Given the description of an element on the screen output the (x, y) to click on. 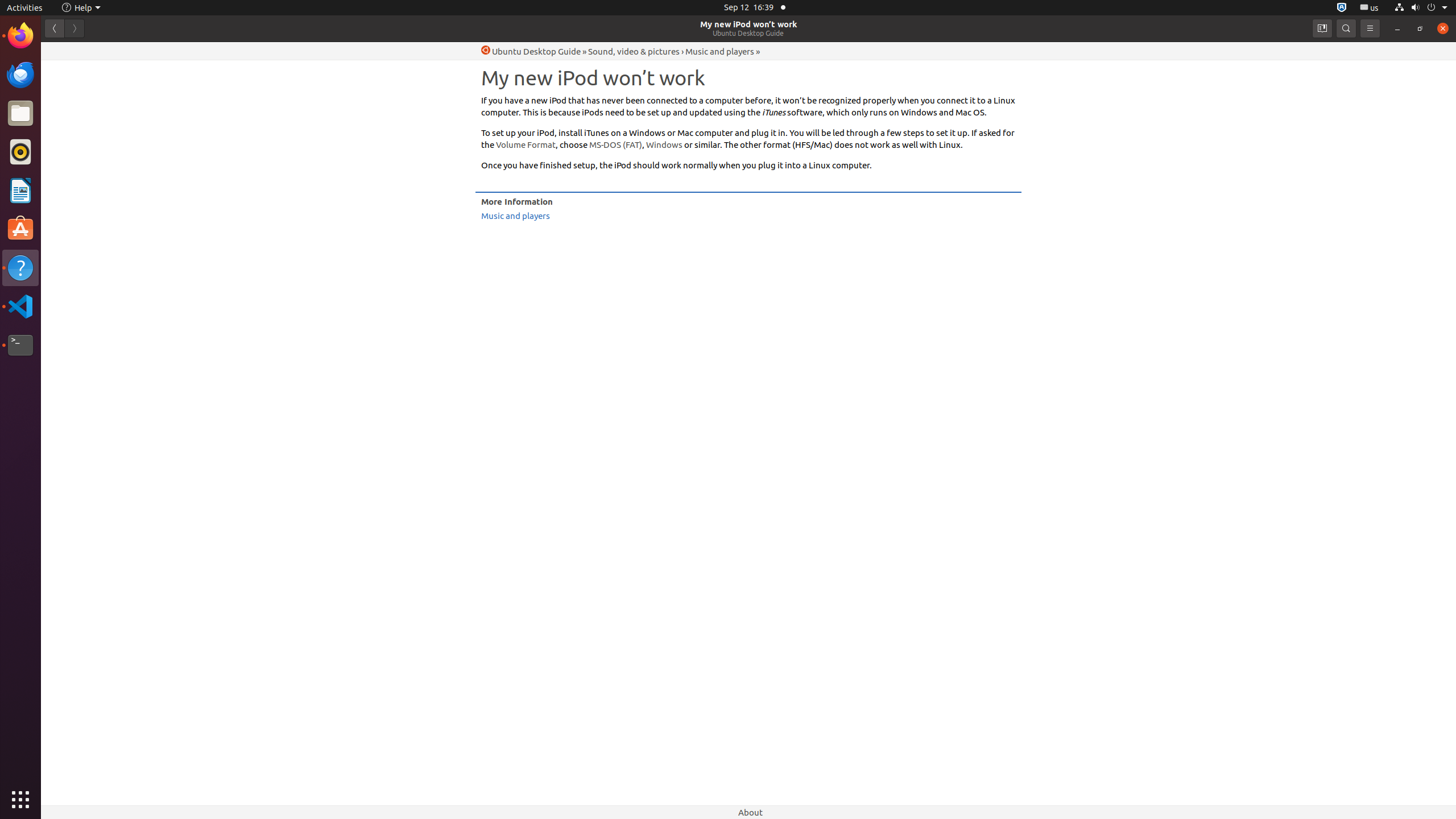
Firefox Web Browser Element type: push-button (20, 35)
